Given the description of an element on the screen output the (x, y) to click on. 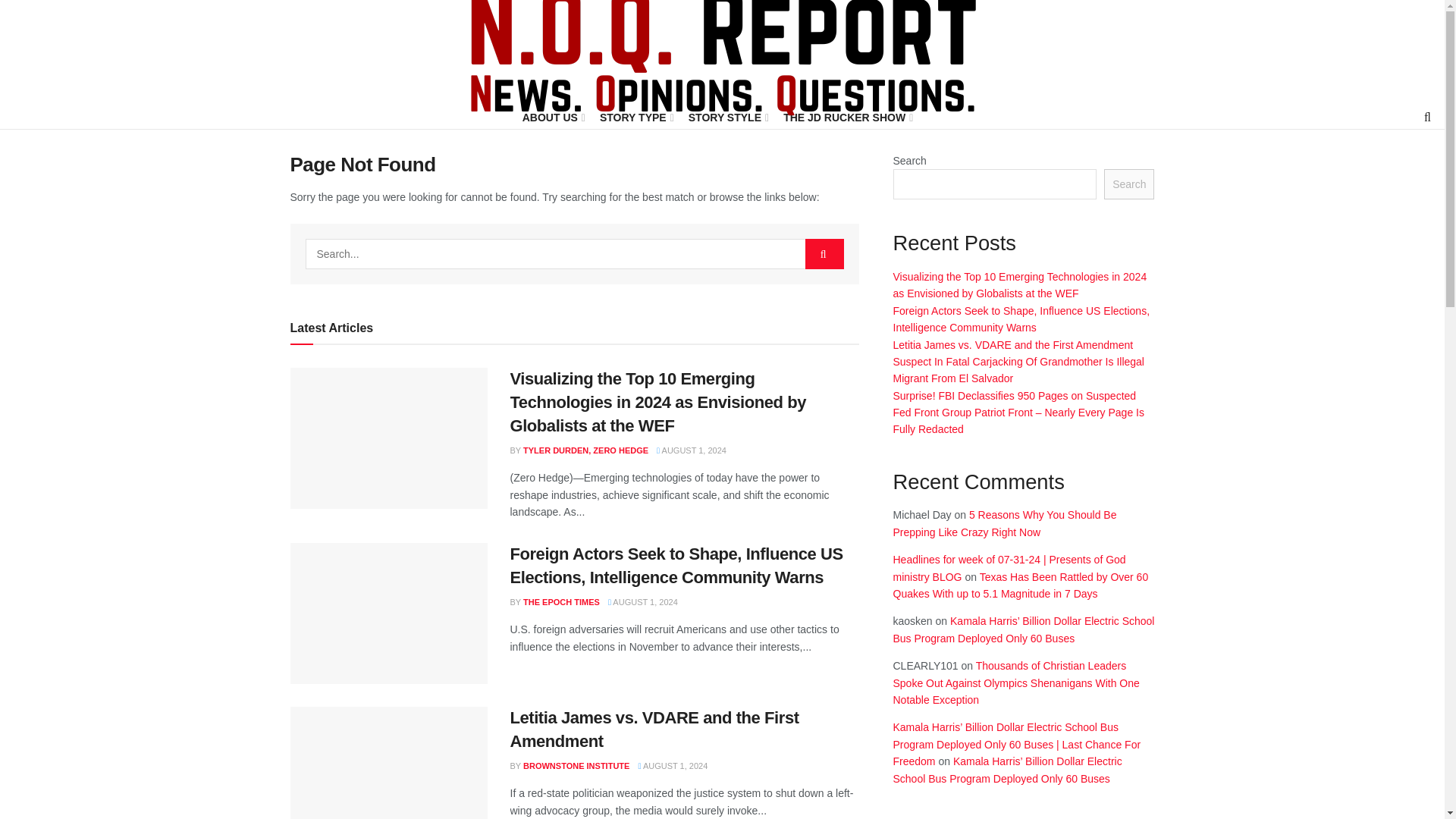
THE JD RUCKER SHOW (847, 117)
STORY TYPE (635, 117)
ABOUT US (552, 117)
STORY STYLE (727, 117)
